Given the description of an element on the screen output the (x, y) to click on. 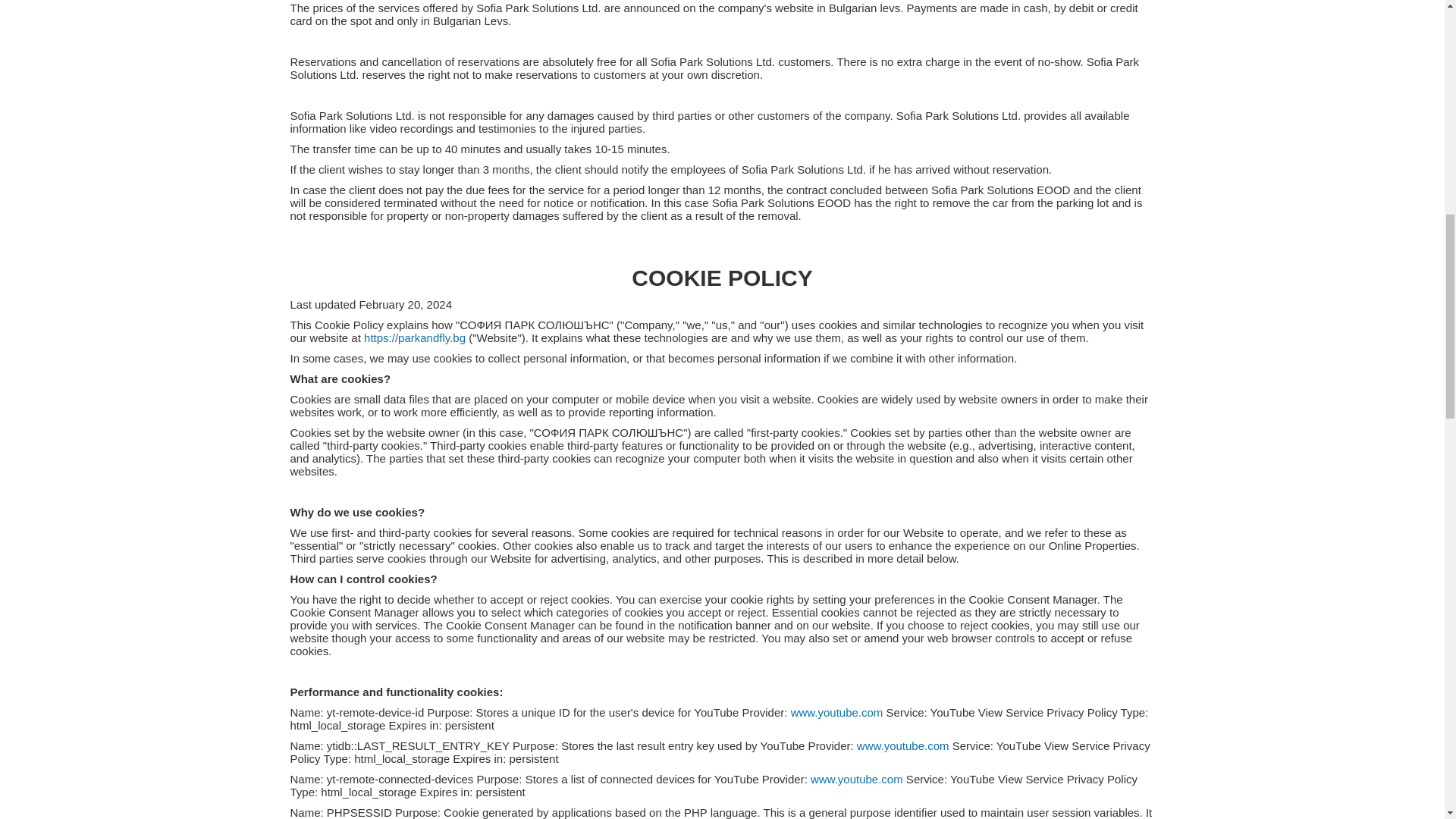
www.youtube.com (856, 779)
www.youtube.com (903, 745)
www.youtube.com (836, 712)
